Given the description of an element on the screen output the (x, y) to click on. 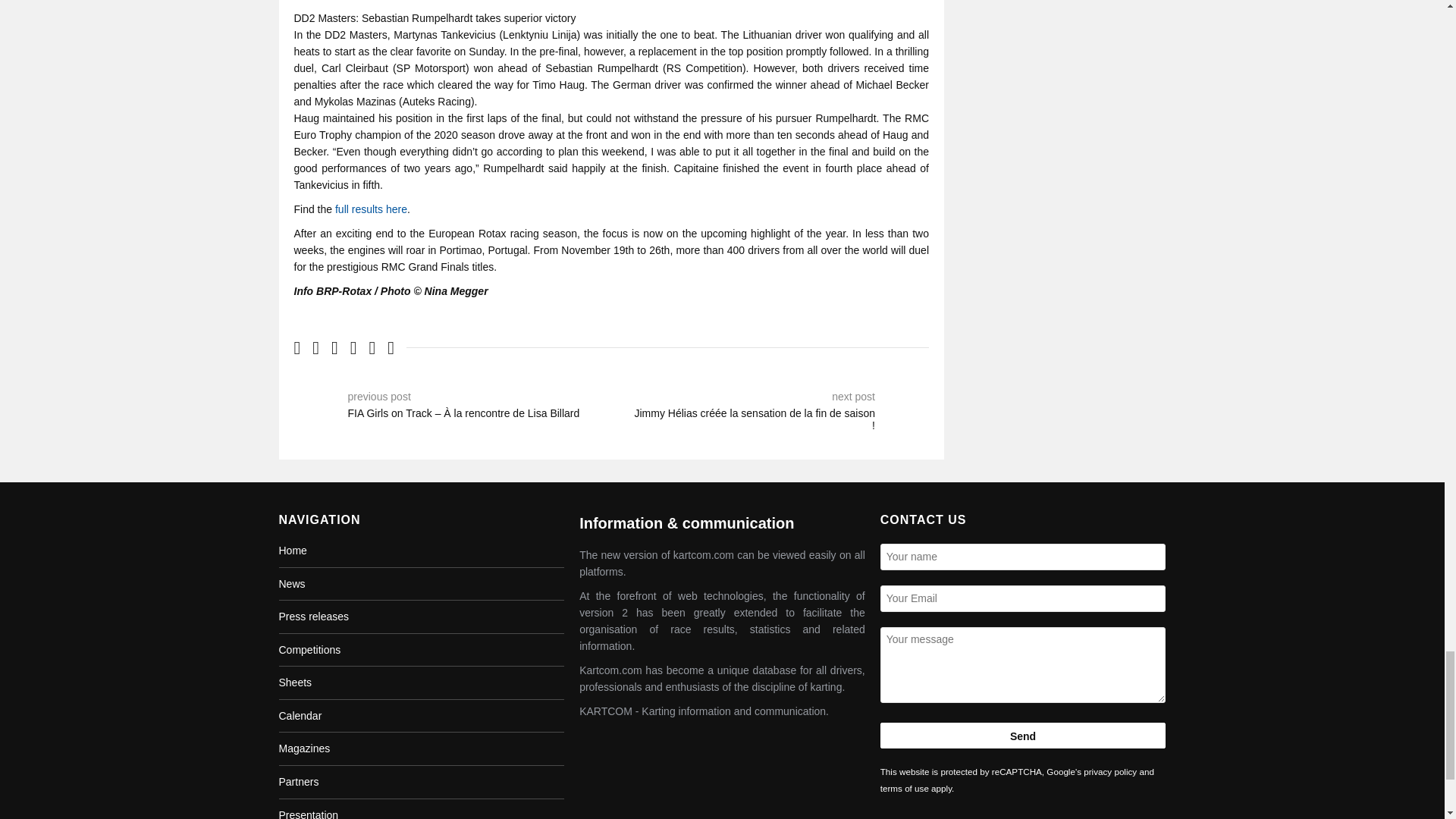
Send (1023, 735)
